Given the description of an element on the screen output the (x, y) to click on. 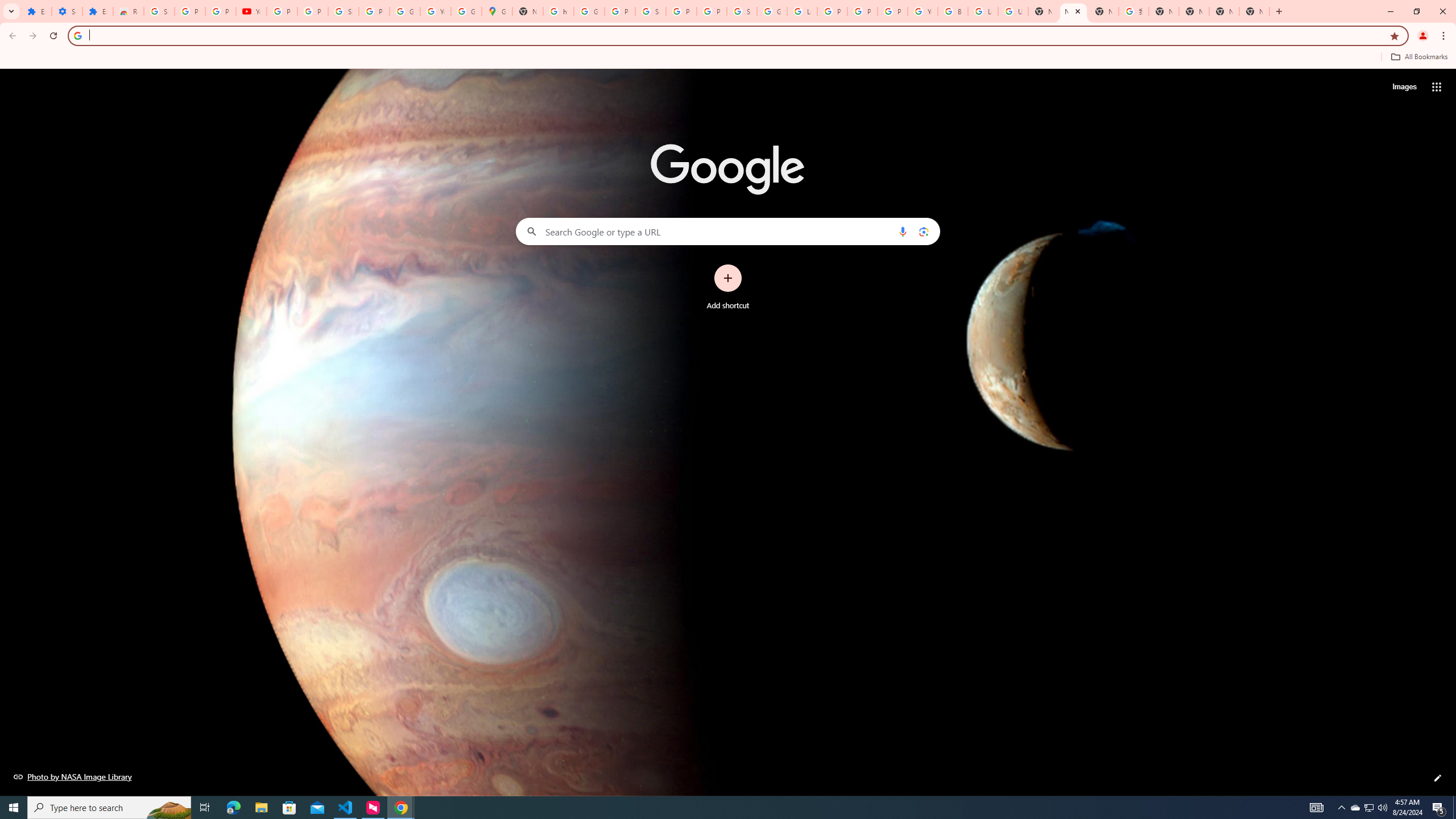
Bookmarks (728, 58)
Sign in - Google Accounts (158, 11)
Customize this page (1437, 778)
YouTube (434, 11)
Extensions (97, 11)
Photo by NASA Image Library (72, 776)
